Given the description of an element on the screen output the (x, y) to click on. 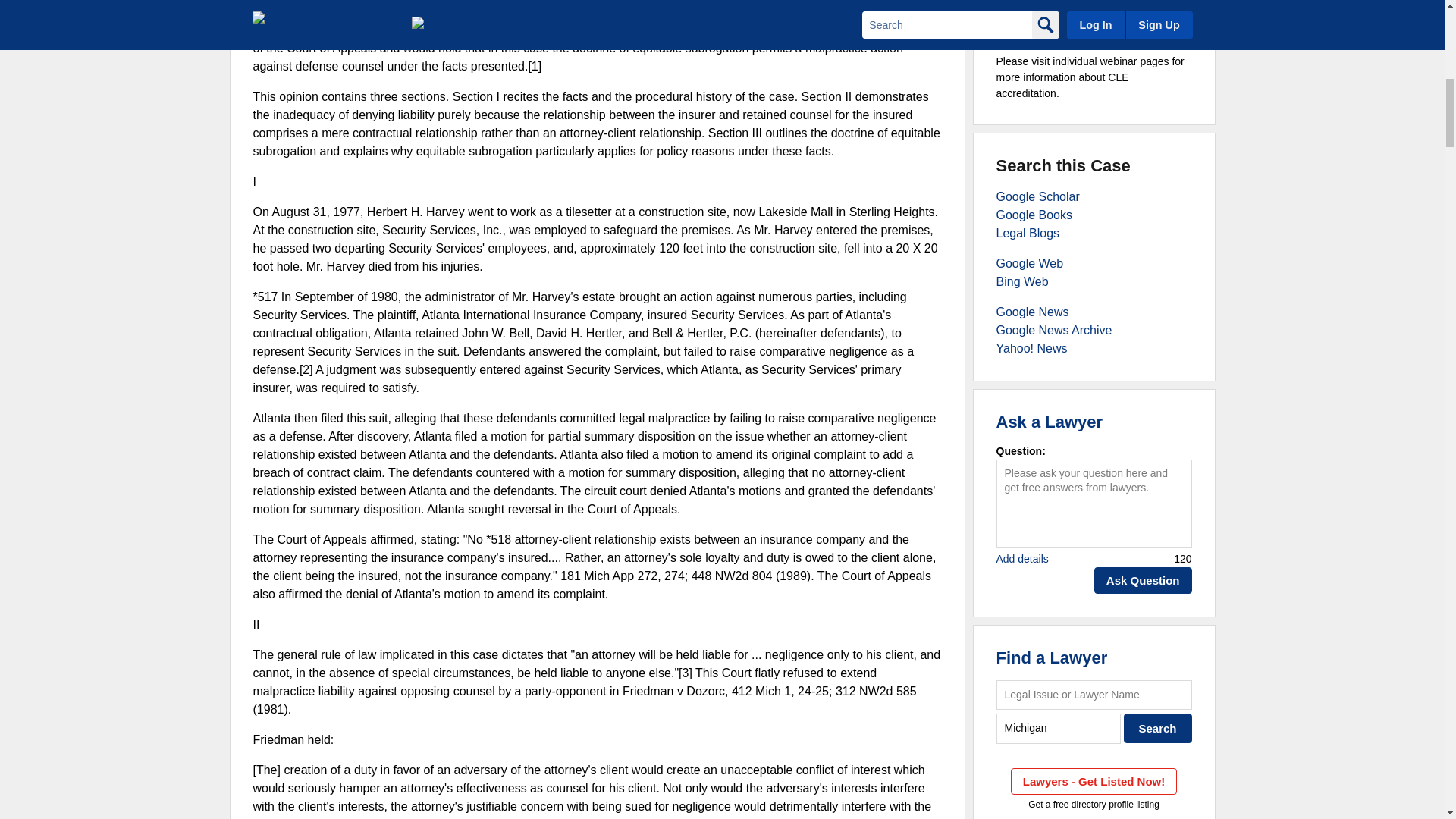
City, State (1058, 727)
Law - Google Books (1034, 214)
Google Scholar (1037, 196)
Law - Google News Archive (1053, 329)
Law - Google Web (1029, 263)
Michigan (1058, 727)
Law - Google News (1031, 311)
Search (1158, 727)
Google Books (1034, 214)
Legal Issue or Lawyer Name (1093, 695)
Legal Blogs (1027, 232)
Law - Bing Web (1021, 281)
Search (1158, 727)
Law - Google Scholar (1037, 196)
